Given the description of an element on the screen output the (x, y) to click on. 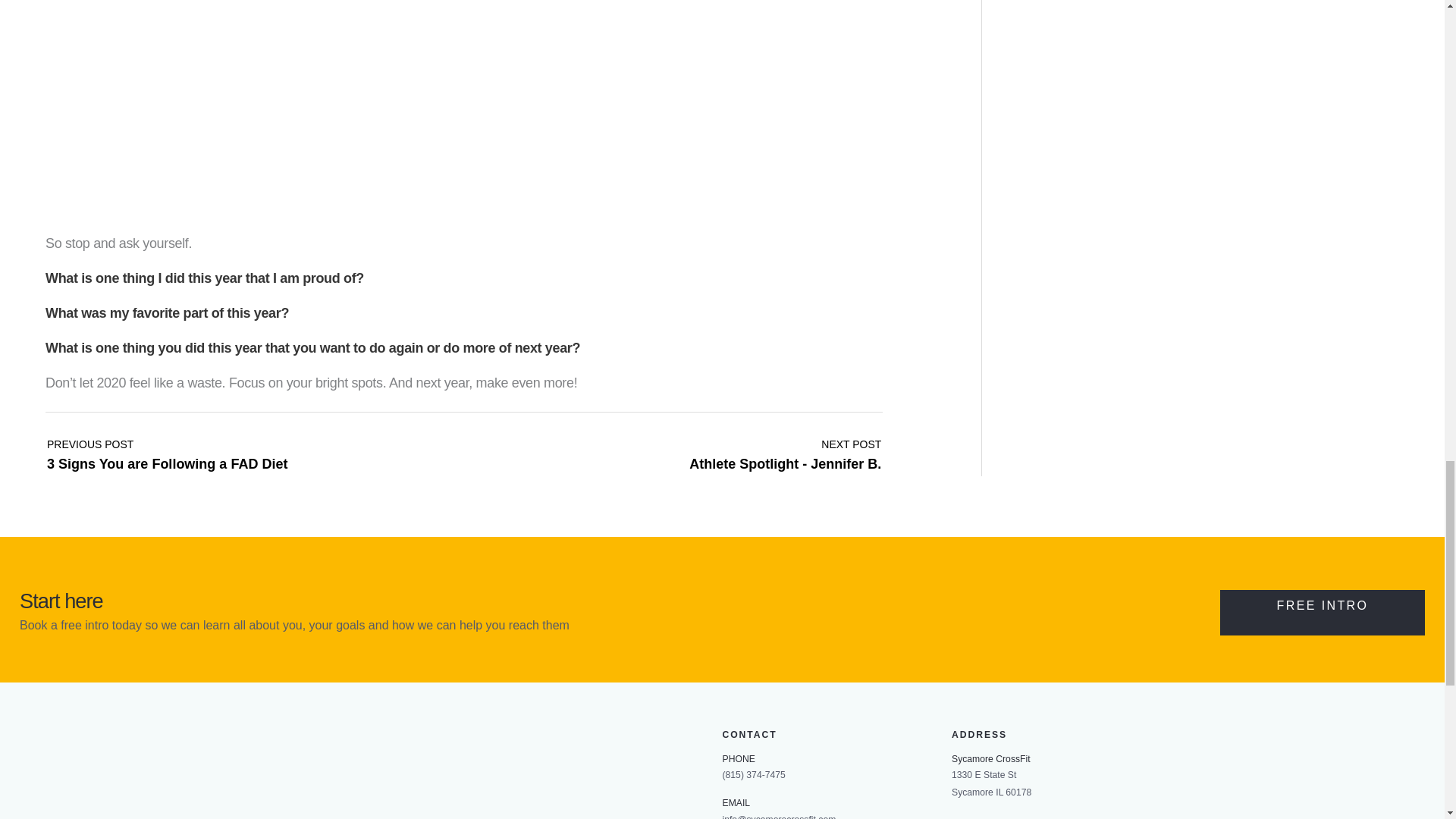
3 Signs You are Following a FAD Diet (784, 450)
FREE INTRO (166, 450)
Athlete Spotlight - Jennifer B. (166, 450)
